Given the description of an element on the screen output the (x, y) to click on. 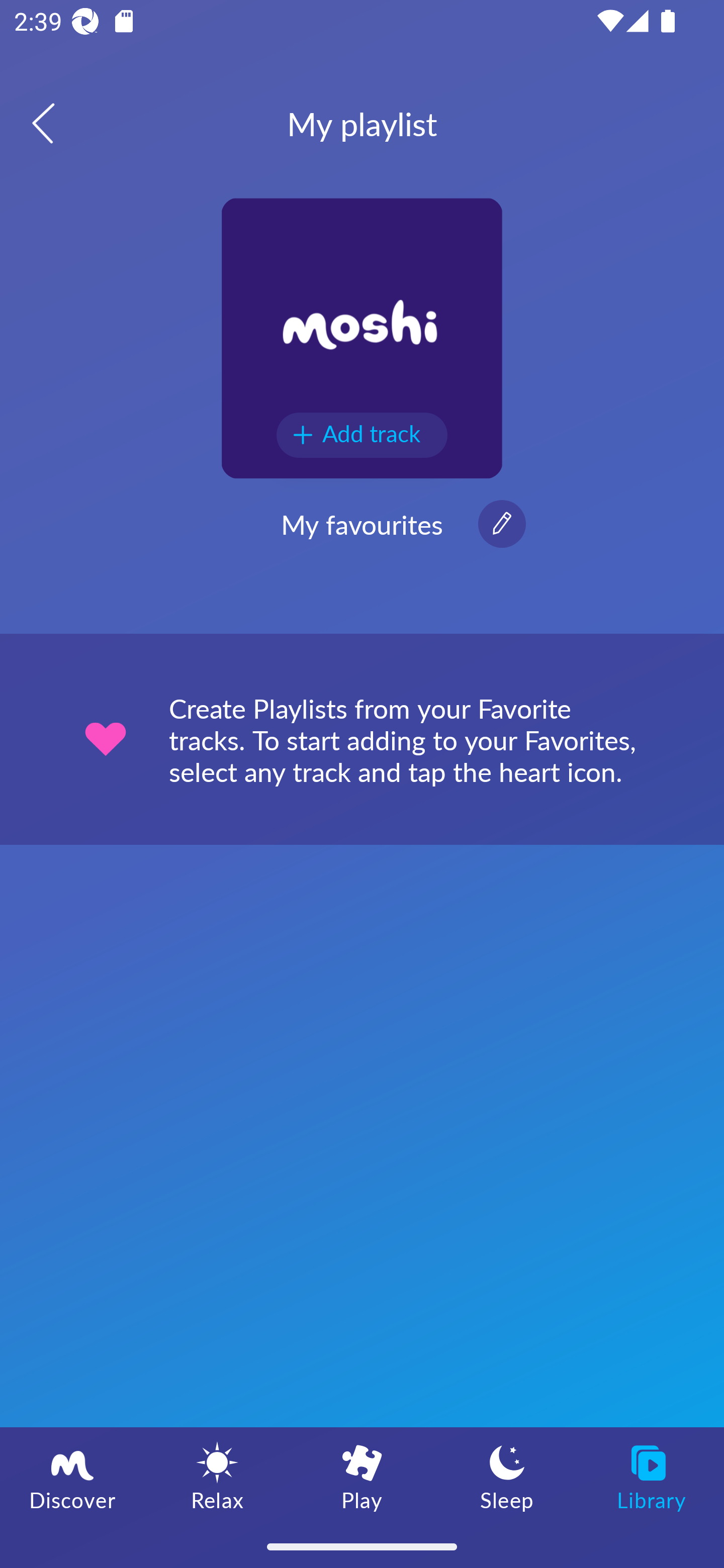
Add track (361, 434)
Discover (72, 1475)
Relax (216, 1475)
Play (361, 1475)
Sleep (506, 1475)
